Given the description of an element on the screen output the (x, y) to click on. 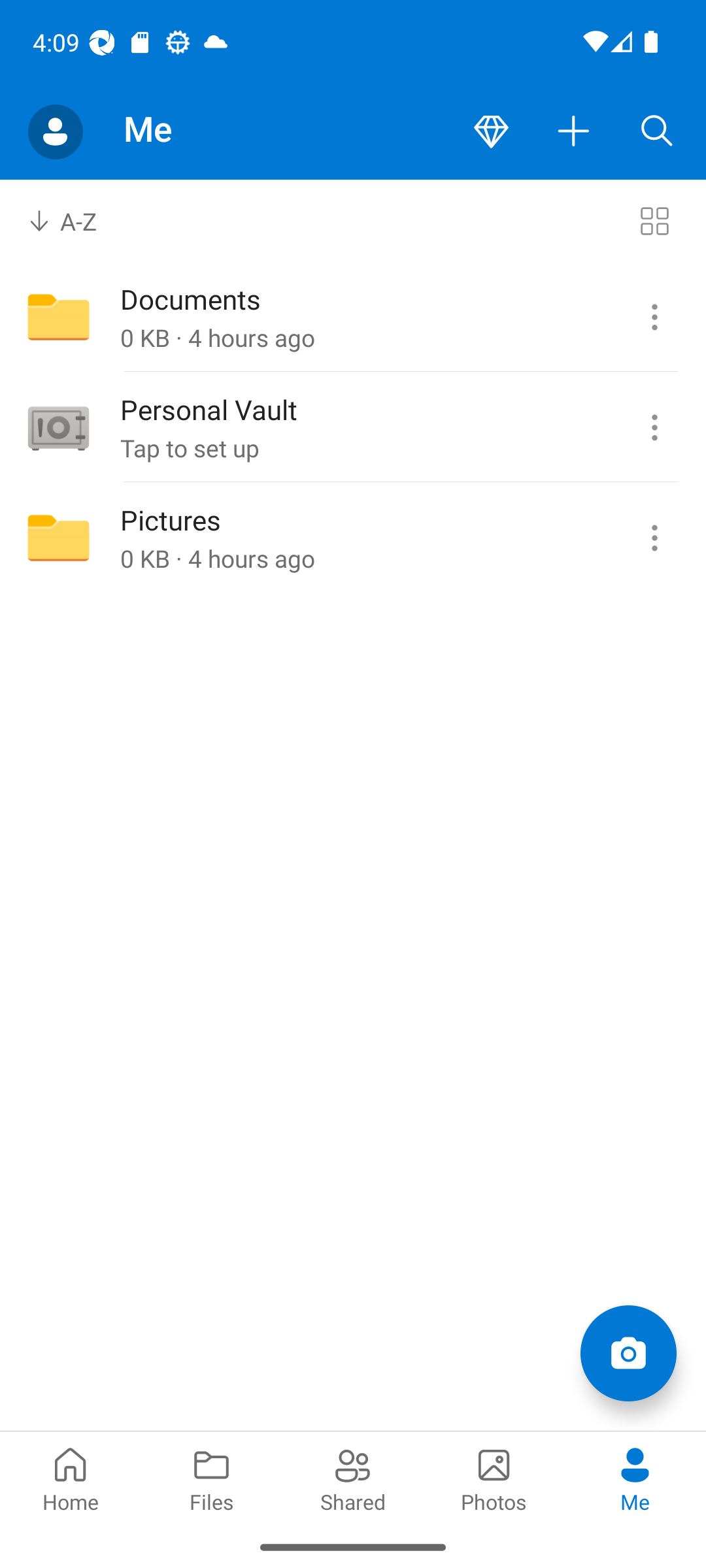
Account switcher (55, 131)
Premium button (491, 131)
More actions button (574, 131)
Search button (656, 131)
A-Z Sort by combo box, sort by name, A to Z (76, 220)
Switch to tiles view (654, 220)
Documents commands (654, 317)
Personal Vault commands (654, 427)
Pictures commands (654, 537)
Add items Scan (628, 1352)
Home pivot Home (70, 1478)
Files pivot selected Files (211, 1478)
Shared pivot Shared (352, 1478)
Photos pivot Photos (493, 1478)
